Given the description of an element on the screen output the (x, y) to click on. 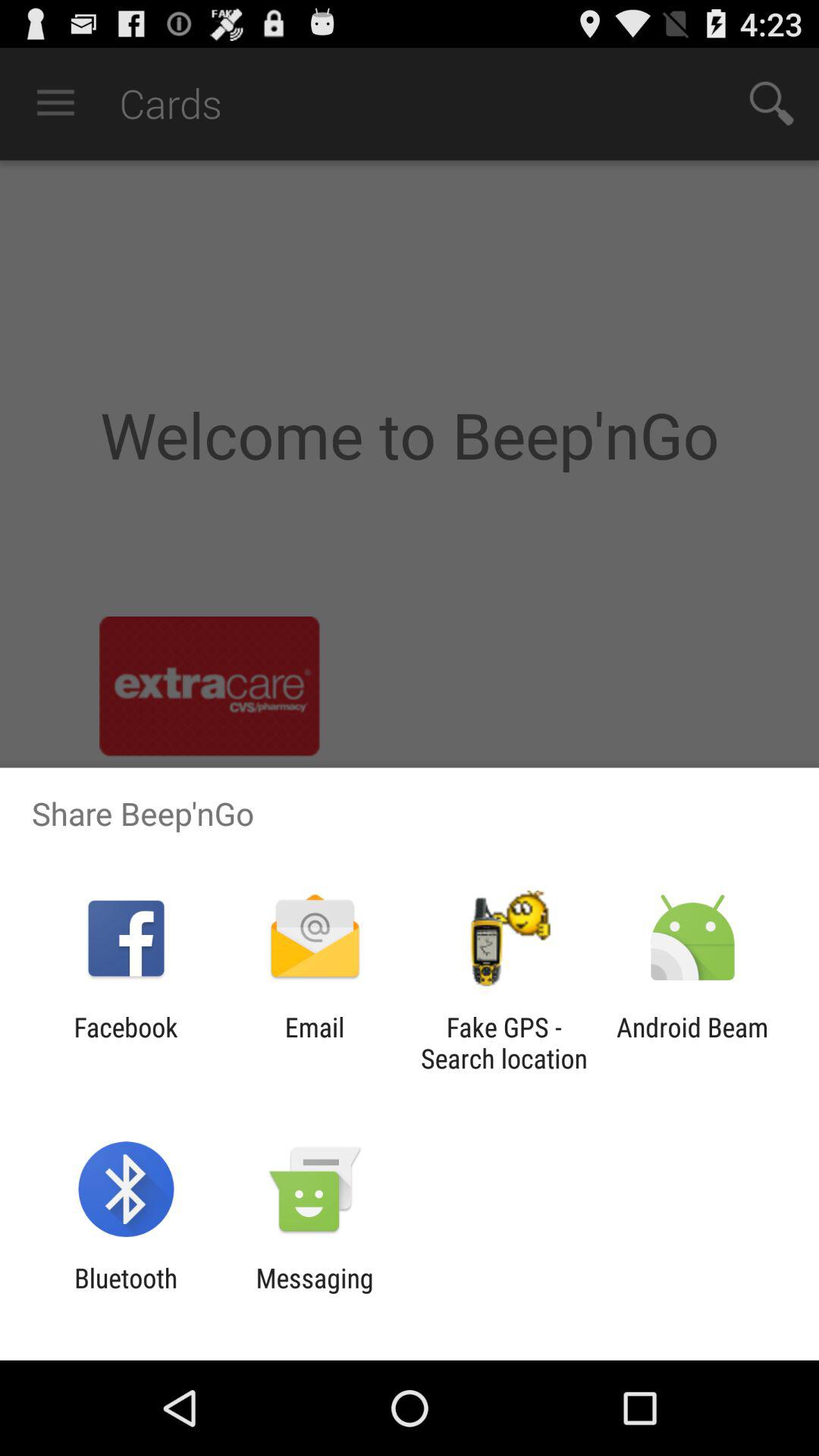
choose android beam icon (692, 1042)
